Given the description of an element on the screen output the (x, y) to click on. 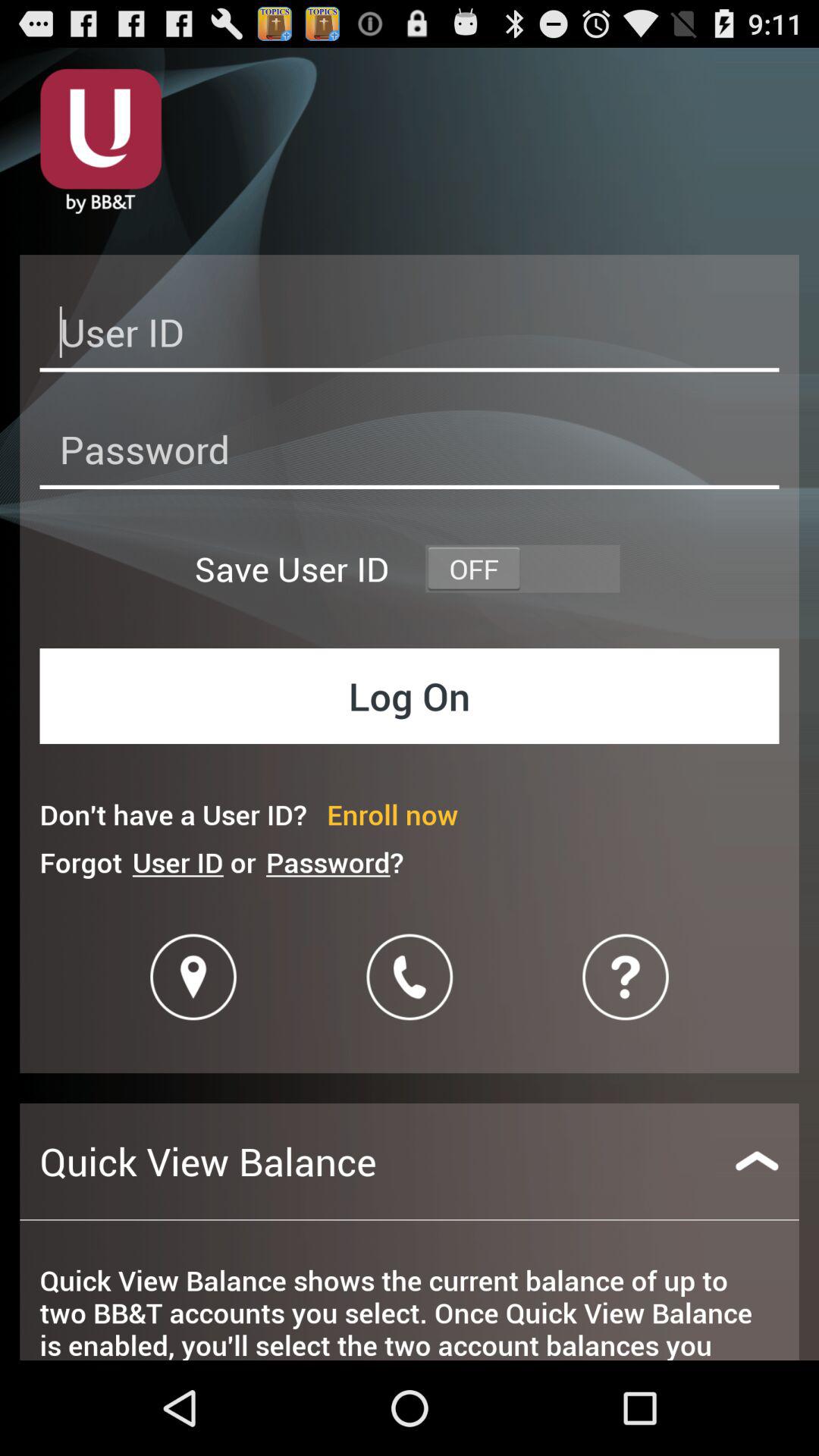
choose item to the right of the user id or icon (334, 861)
